Given the description of an element on the screen output the (x, y) to click on. 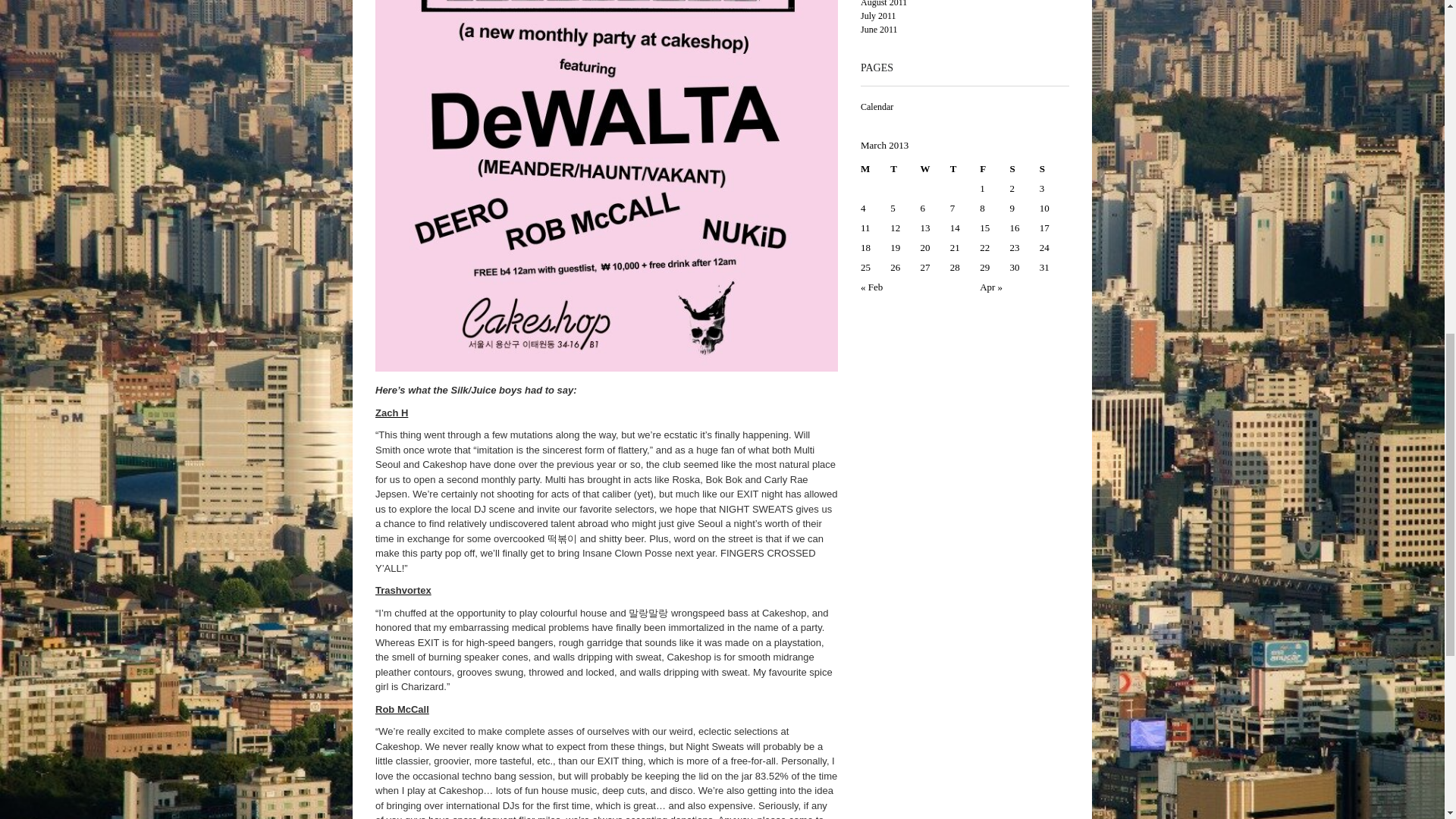
Tuesday (904, 168)
Zach H (391, 412)
Monday (874, 168)
Rob McCall (402, 708)
Friday (994, 168)
Wednesday (935, 168)
Trashvortex (402, 590)
Thursday (964, 168)
